Given the description of an element on the screen output the (x, y) to click on. 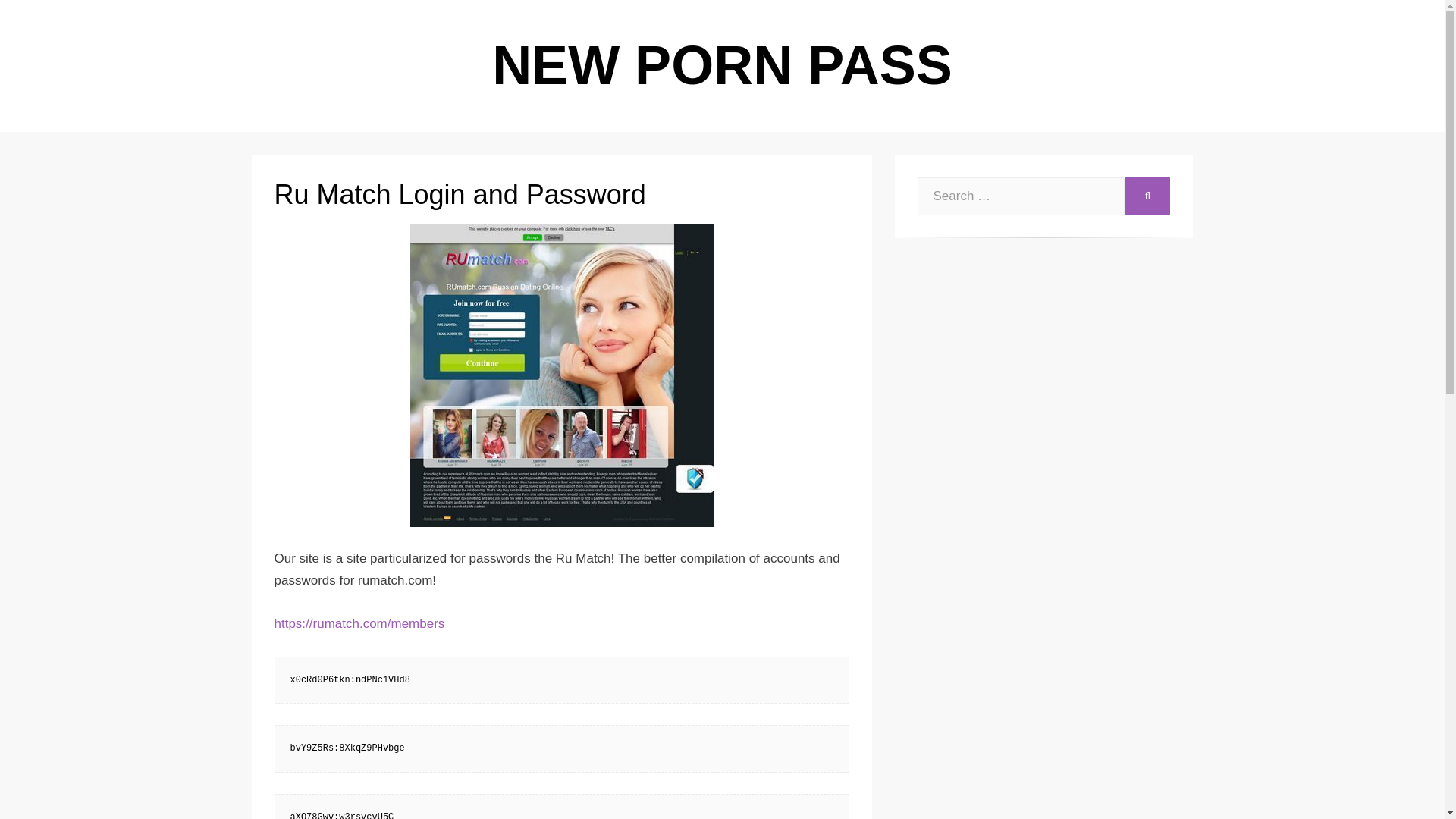
NEW PORN PASS (722, 65)
New Porn Pass (722, 65)
Ru Match (561, 375)
SEARCH (1147, 196)
Search for: (1021, 196)
